Given the description of an element on the screen output the (x, y) to click on. 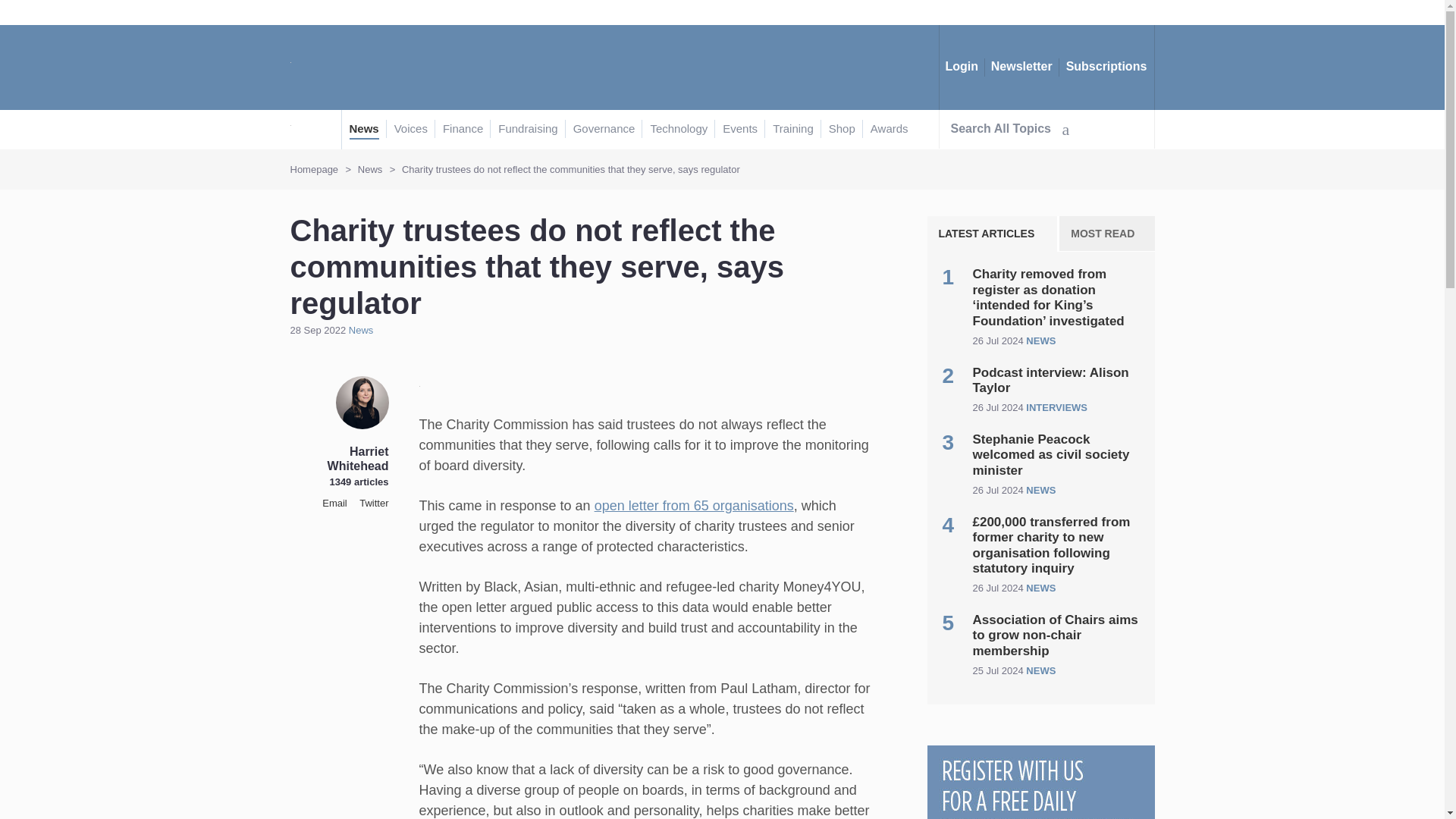
MOST READ (1106, 233)
Governance (603, 129)
News (363, 129)
NEWS (1040, 588)
Fundraising (527, 129)
NEWS (1040, 490)
Email (334, 502)
Subscriptions (1105, 67)
Homepage (313, 169)
Technology (678, 129)
Events (739, 129)
Awards (889, 129)
Twitter (373, 502)
Shop (842, 129)
Finance (462, 129)
